Given the description of an element on the screen output the (x, y) to click on. 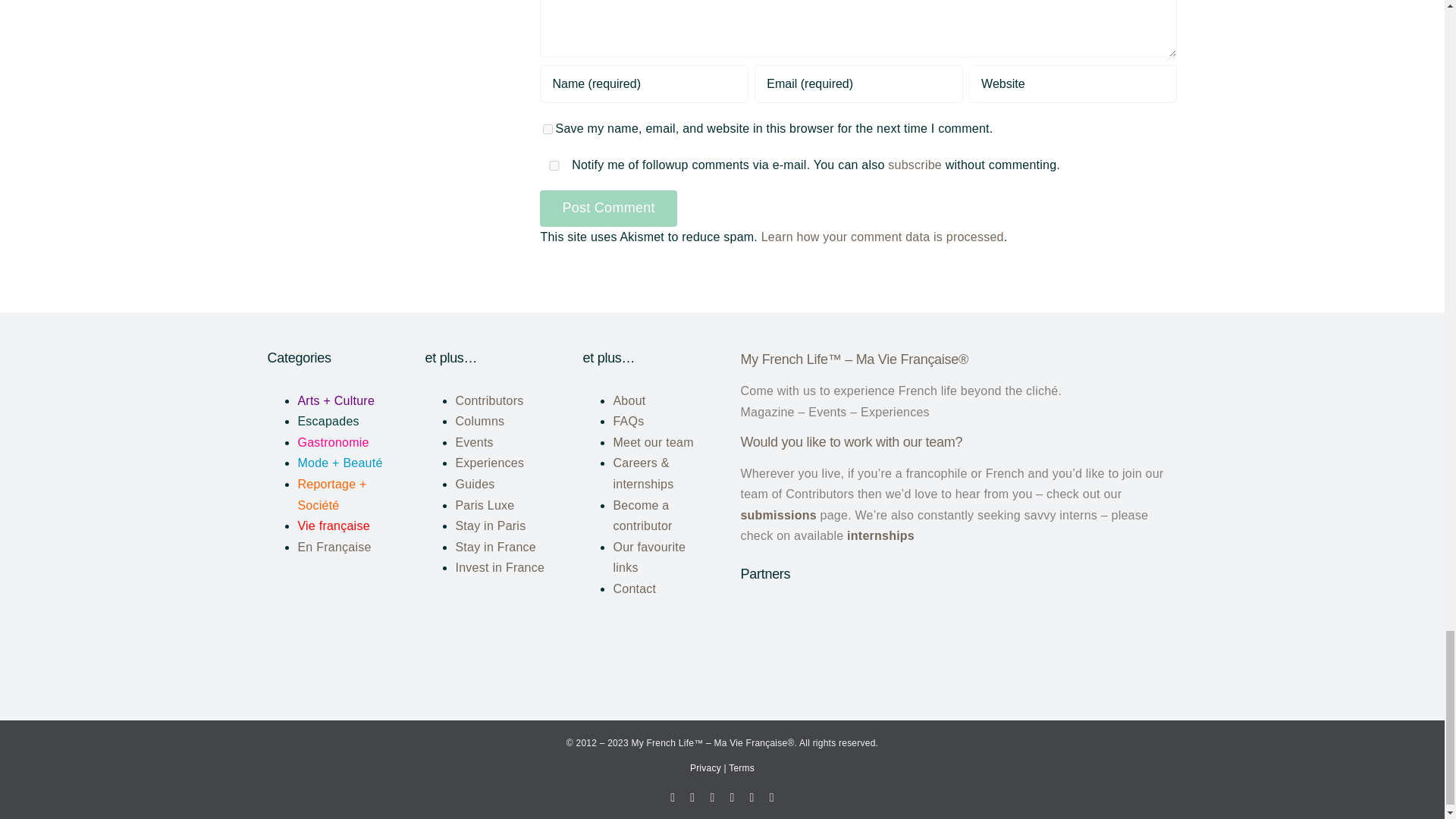
yes (554, 165)
yes (548, 129)
Post Comment (608, 208)
